Given the description of an element on the screen output the (x, y) to click on. 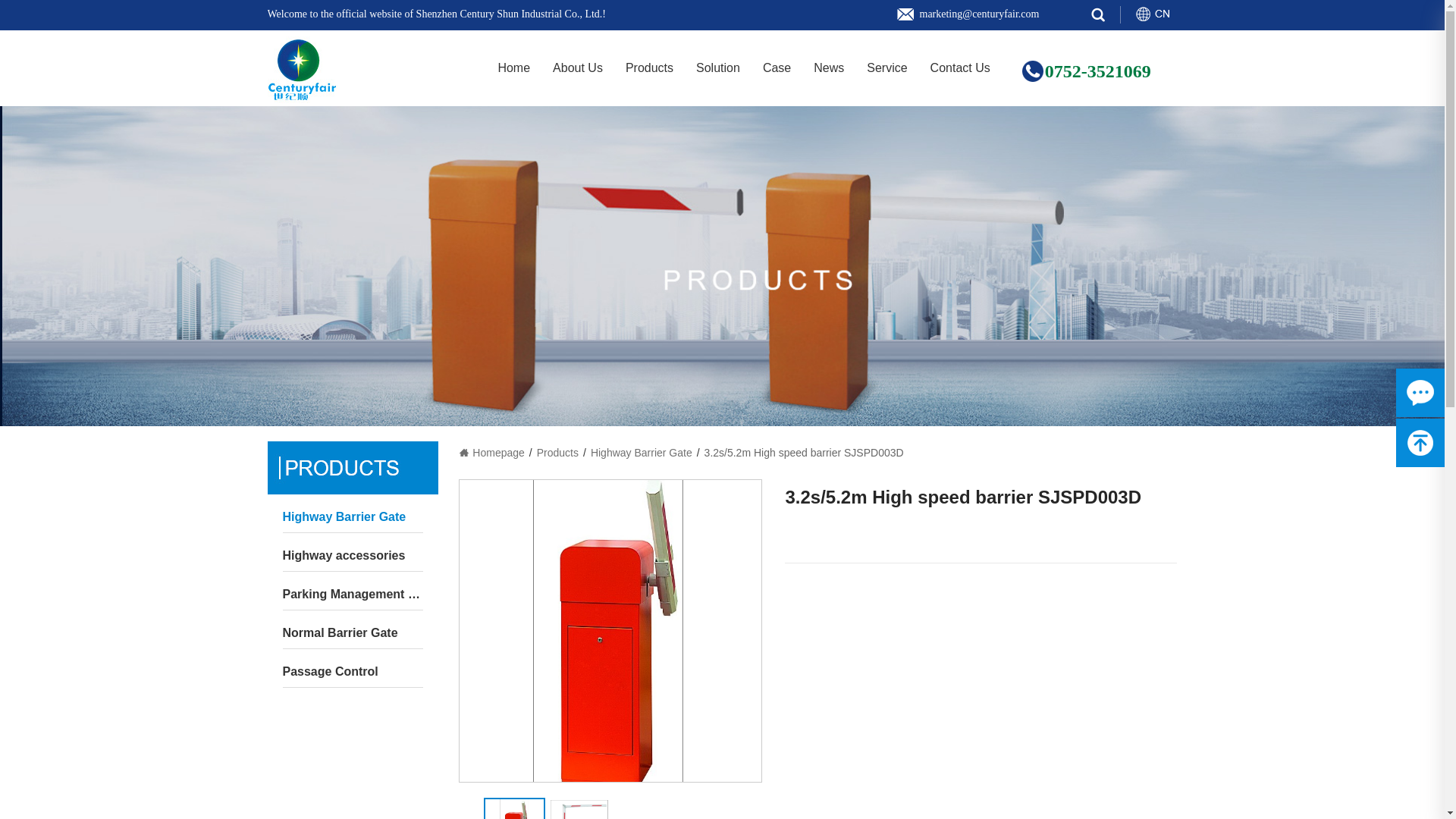
About Us (577, 68)
Normal Barrier Gate (352, 633)
Highway accessories (352, 555)
Parking Management System (352, 594)
Contact Us (959, 68)
Products (649, 68)
Highway Barrier Gate (352, 517)
Passage Control (352, 671)
